Given the description of an element on the screen output the (x, y) to click on. 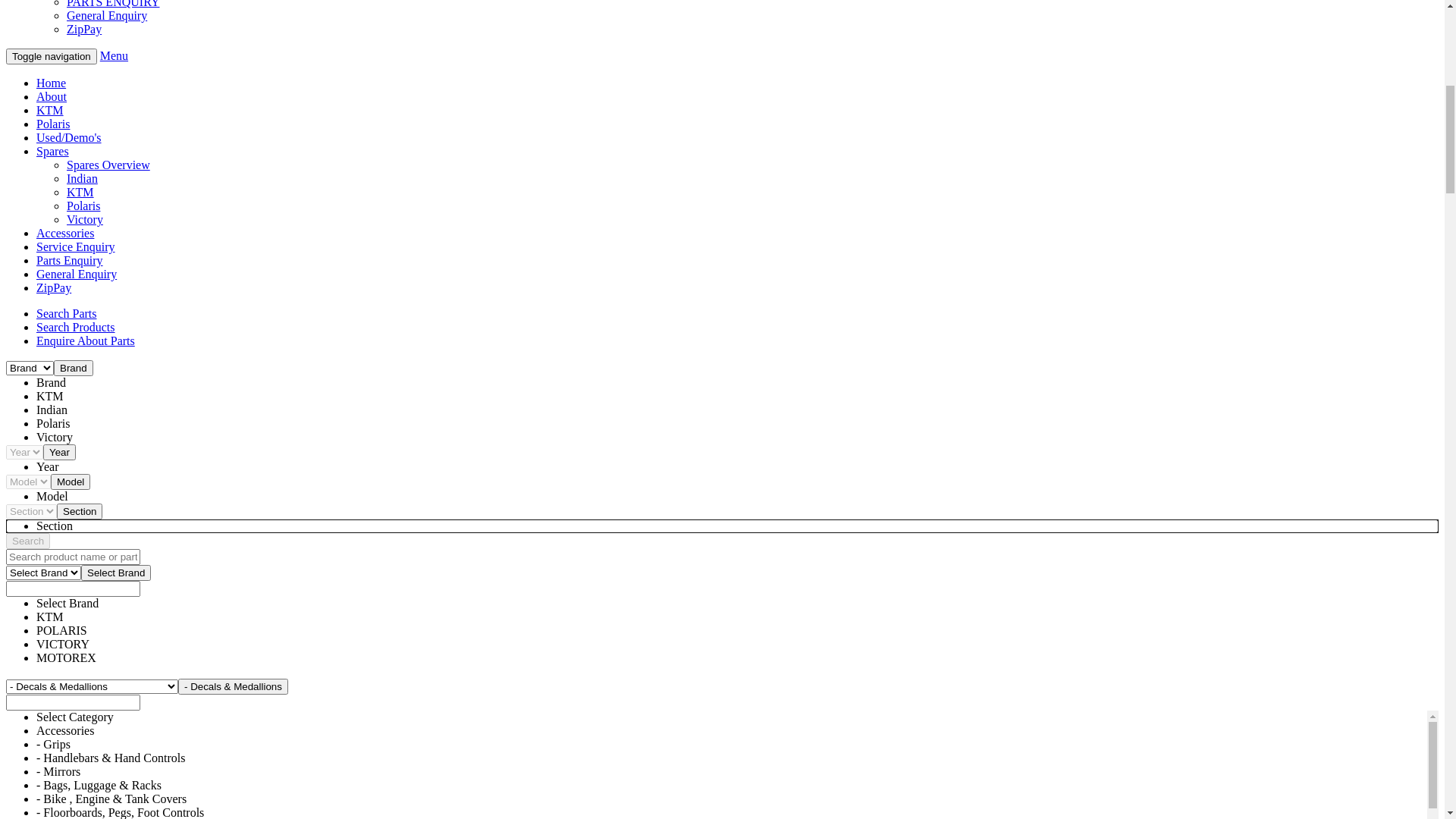
General Enquiry Element type: text (106, 583)
Indian Element type: text (81, 746)
About Element type: text (51, 338)
MOTOREX Element type: text (96, 542)
POLARIS Element type: text (91, 515)
About Element type: text (51, 664)
Accessories Element type: text (65, 801)
Spares Overview Element type: text (108, 420)
Used/Demo's Element type: text (68, 705)
Toggle navigation Element type: text (51, 625)
Polaris Element type: text (52, 692)
Victory Element type: text (84, 787)
sales@eaglepowersports.com.au Element type: text (115, 18)
Login/Join Element type: text (62, 98)
ZipPay Element type: text (83, 597)
Home Element type: text (50, 651)
KTM Element type: text (49, 678)
PARTS ENQUIRY Element type: text (112, 570)
Spares Element type: text (52, 719)
$0.00 (0) Element type: text (58, 84)
VICTORY Element type: text (92, 529)
Eagle Powersports Element type: hover (87, 193)
Home Element type: text (50, 324)
KTM Element type: text (80, 501)
KTM Element type: text (49, 365)
Call Us 02 6765 5586 Element type: text (737, 278)
POLARIS Element type: text (91, 461)
Service Enquiry Element type: text (105, 556)
Accessories Element type: text (65, 488)
Polaris Element type: text (83, 774)
SPARES Element type: text (57, 406)
KTM Element type: text (80, 447)
Menu Element type: text (114, 624)
INDIAN Element type: text (87, 433)
KTM Element type: text (80, 760)
Spares Overview Element type: text (108, 733)
BMW Element type: text (51, 351)
Used/Demo's Element type: text (68, 392)
POLARIS Element type: text (61, 379)
VICTORY Element type: text (92, 474)
